Given the description of an element on the screen output the (x, y) to click on. 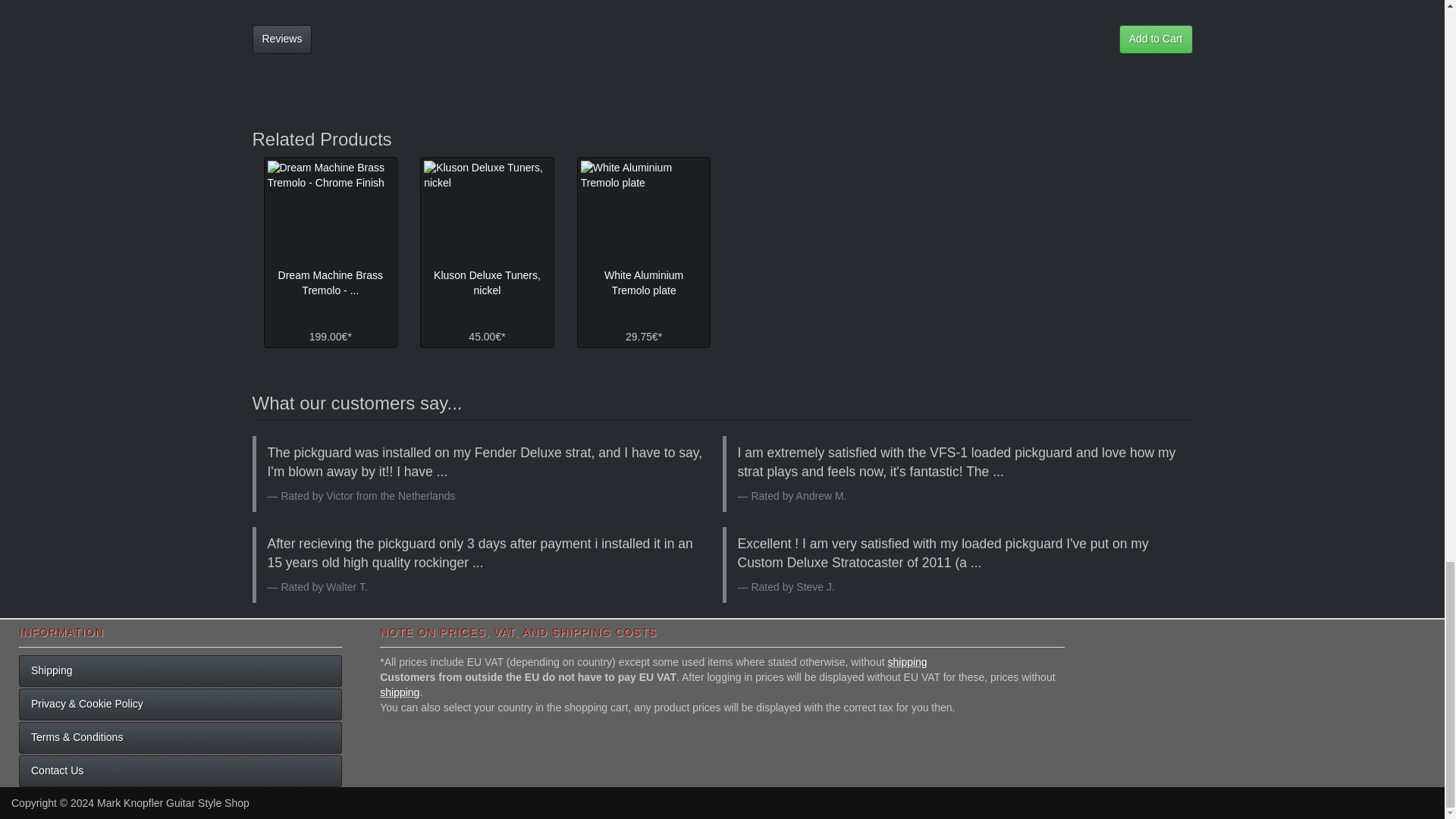
Reviews (281, 39)
Dream Machine Brass Tremolo - ... (331, 282)
Steve J. (815, 586)
White Aluminium Tremolo plate (643, 210)
Dream Machine Brass Tremolo - Chrome Finish (329, 210)
Add to Cart (1155, 39)
Victor from the Netherlands (390, 495)
Walter T. (346, 586)
Andrew M. (821, 495)
Kluson Deluxe Tuners, nickel (486, 210)
Kluson Deluxe Tuners, nickel (486, 282)
